Given the description of an element on the screen output the (x, y) to click on. 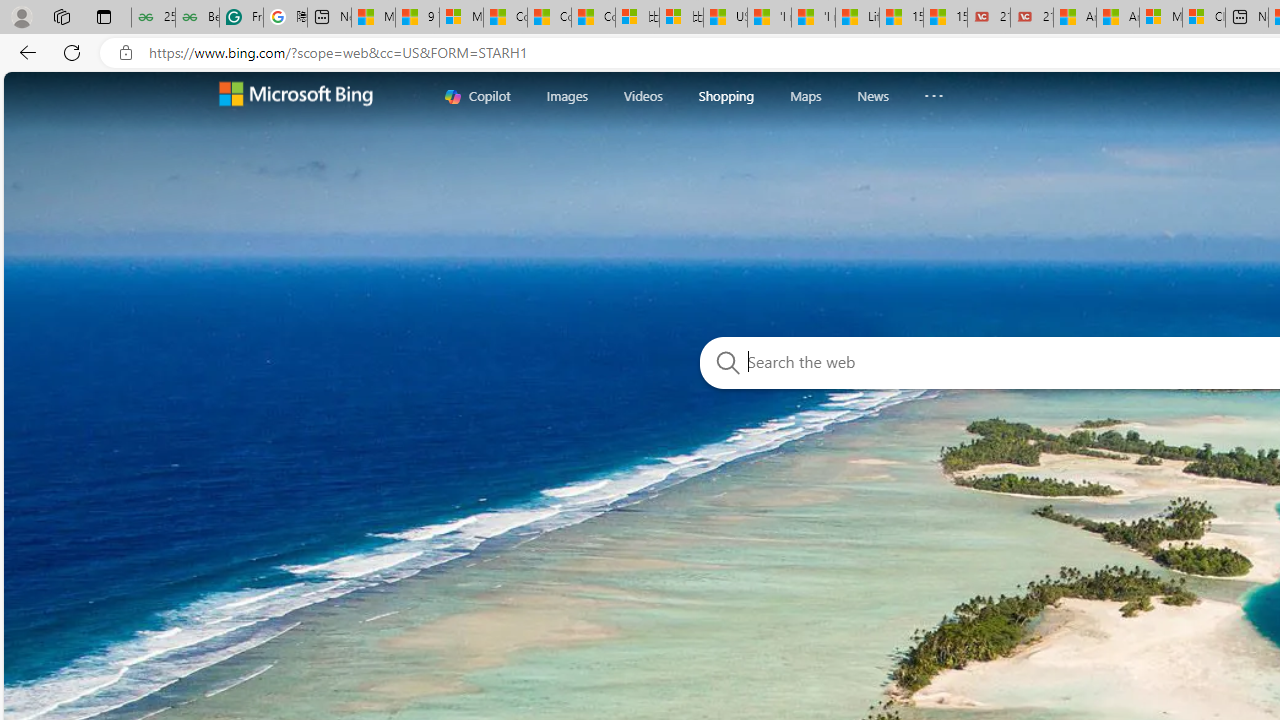
Best SSL Certificates Provider in India - GeeksforGeeks (196, 17)
21 Movies That Outdid the Books They Were Based On (1032, 17)
Lifestyle - MSN (857, 17)
Videos (643, 95)
Images (566, 95)
More (934, 91)
Copilot (477, 95)
